Given the description of an element on the screen output the (x, y) to click on. 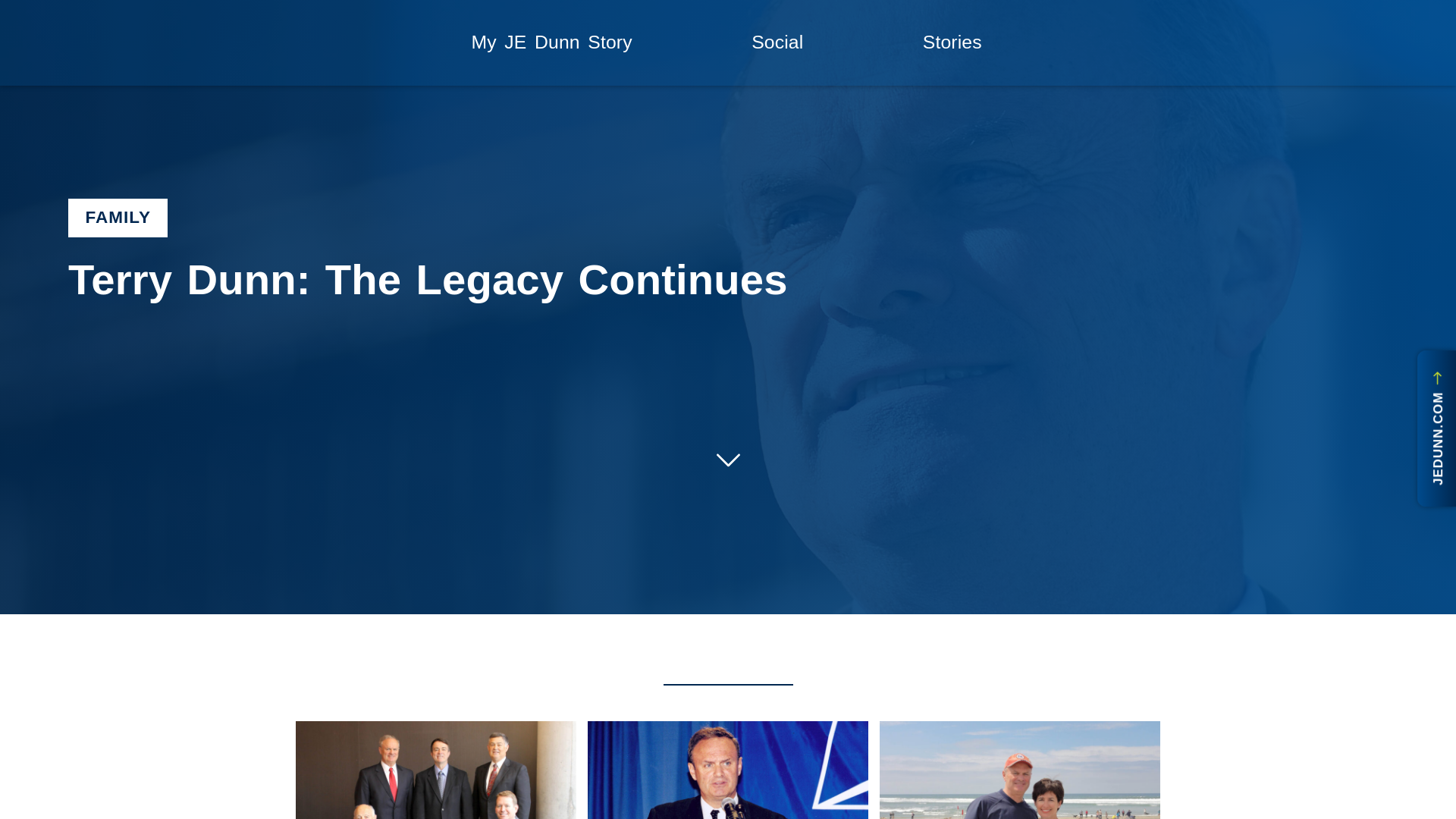
Social (777, 42)
My JE Dunn Story (551, 42)
FAMILY (117, 218)
Stories (951, 42)
